Given the description of an element on the screen output the (x, y) to click on. 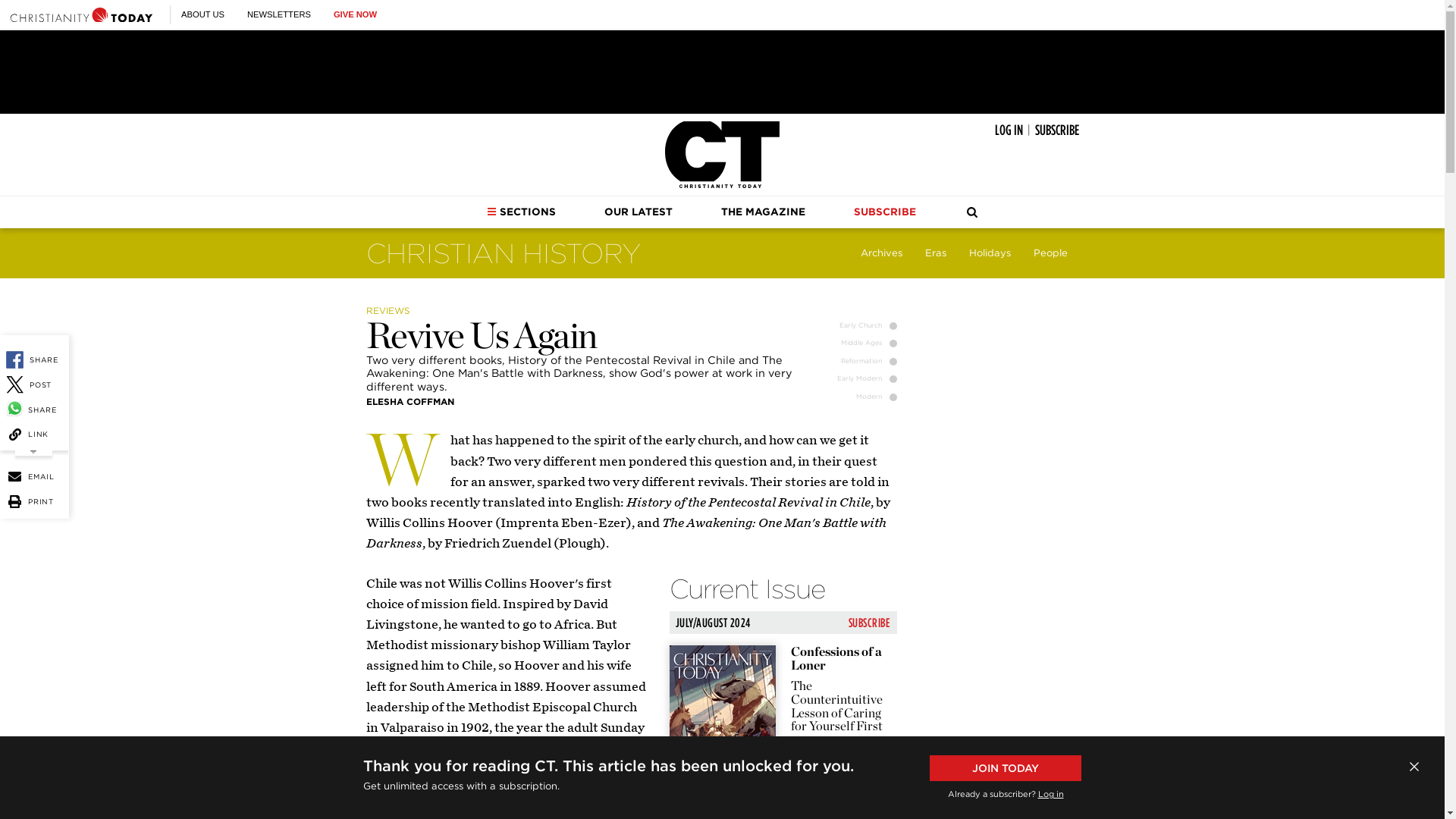
Sections Dropdown (491, 211)
GIVE NOW (355, 14)
SECTIONS (521, 212)
Christianity Today (81, 14)
ABOUT US (202, 14)
SUBSCRIBE (1055, 130)
NEWSLETTERS (278, 14)
Christianity Today (721, 154)
3rd party ad content (721, 71)
LOG IN (1008, 130)
